Given the description of an element on the screen output the (x, y) to click on. 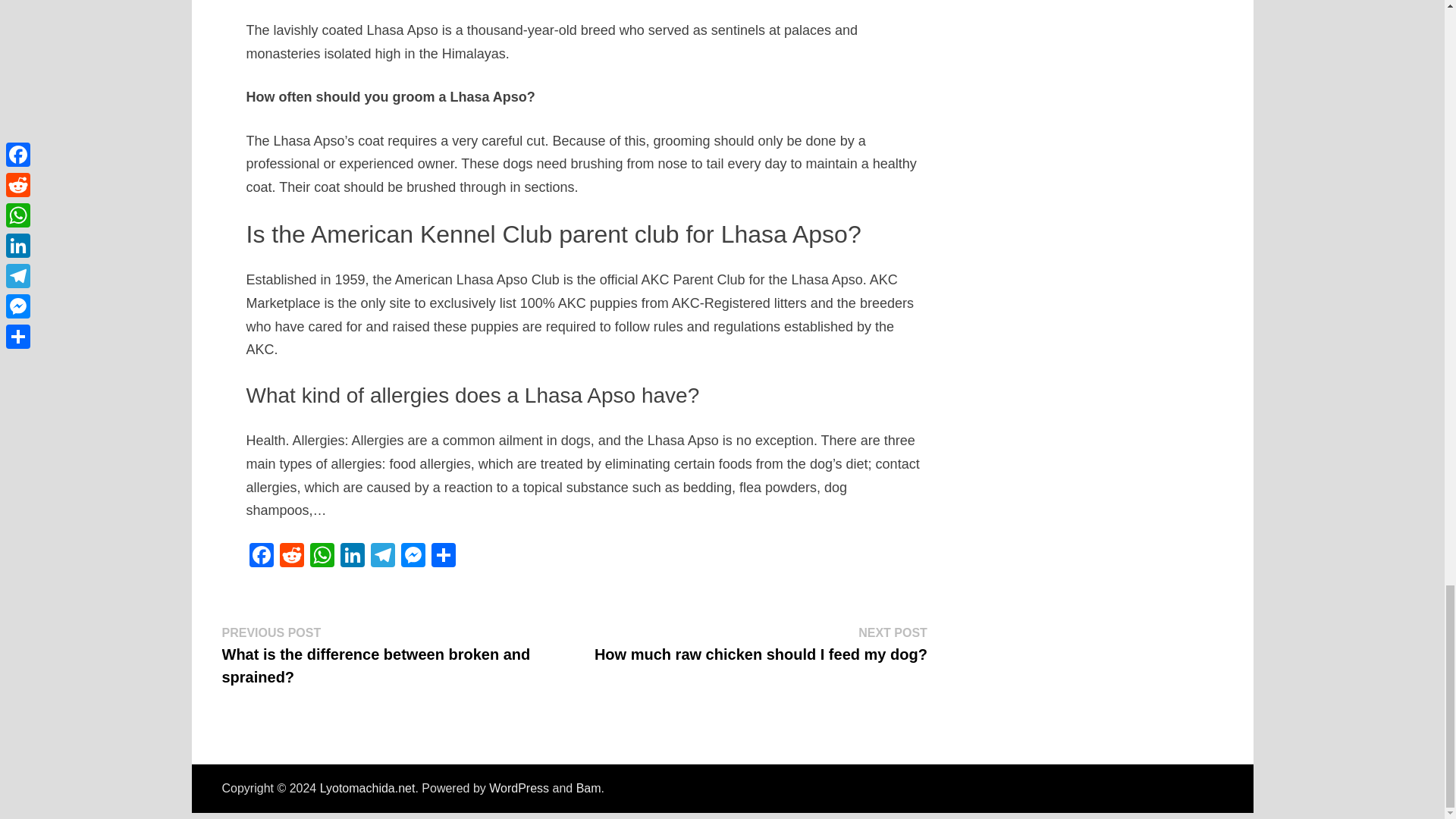
WhatsApp (320, 556)
Reddit (290, 556)
Messenger (412, 556)
Lyotomachida.net (367, 788)
WhatsApp (320, 556)
Facebook (261, 556)
LinkedIn (351, 556)
Reddit (290, 556)
Facebook (261, 556)
